Given the description of an element on the screen output the (x, y) to click on. 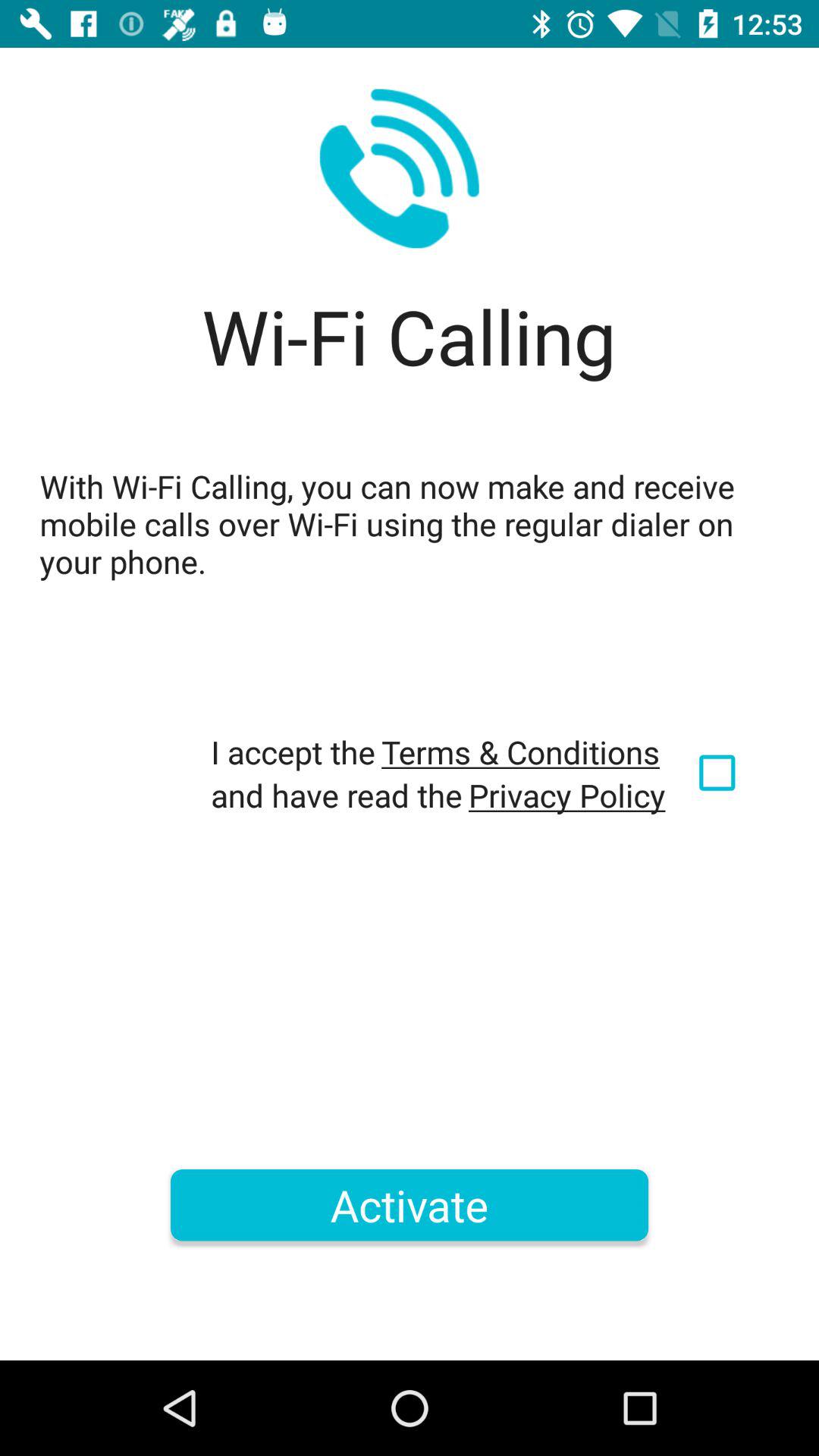
press app next to privacy policy icon (720, 773)
